Given the description of an element on the screen output the (x, y) to click on. 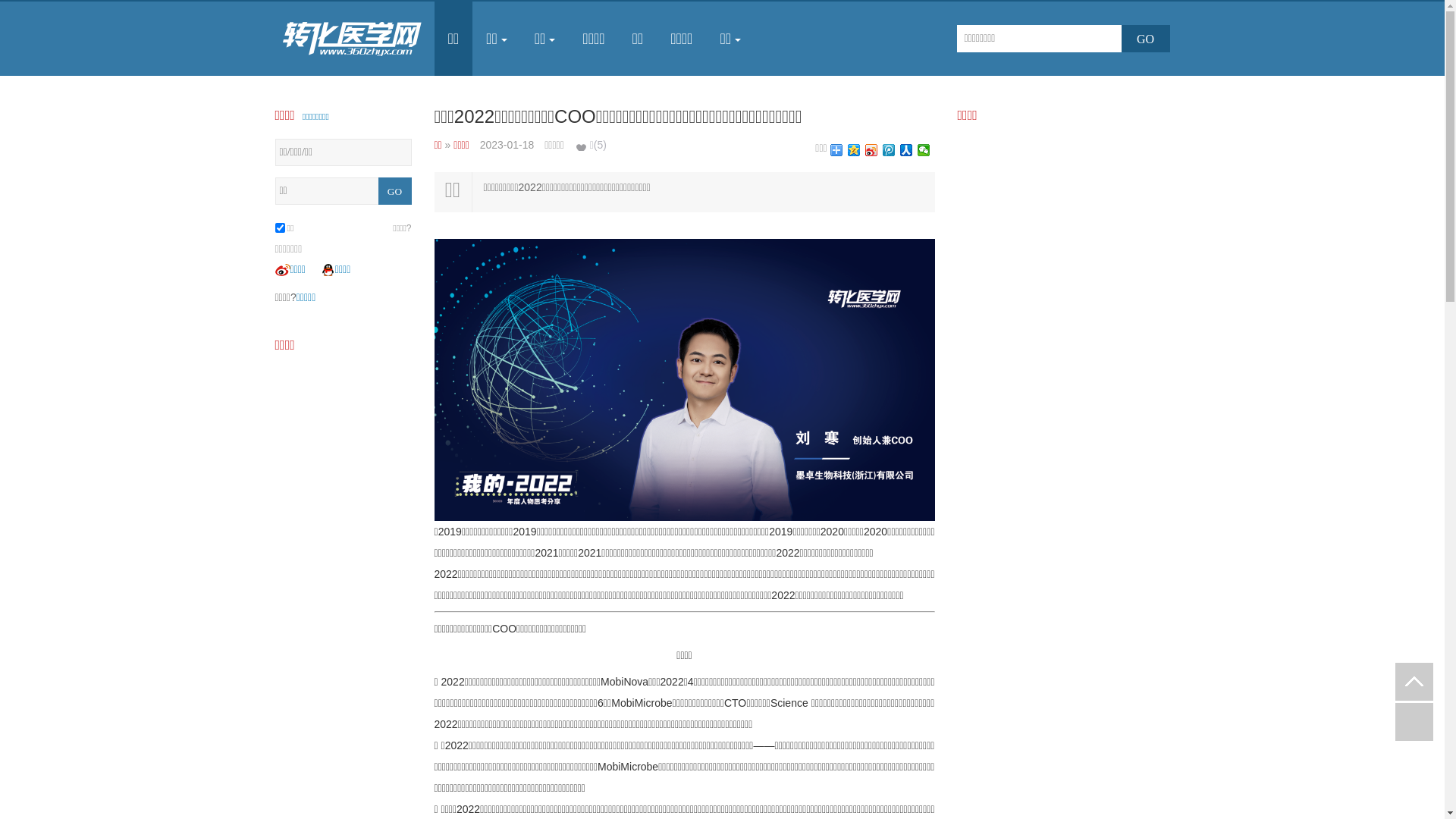
GO Element type: text (394, 190)
GO Element type: text (1144, 38)
